Given the description of an element on the screen output the (x, y) to click on. 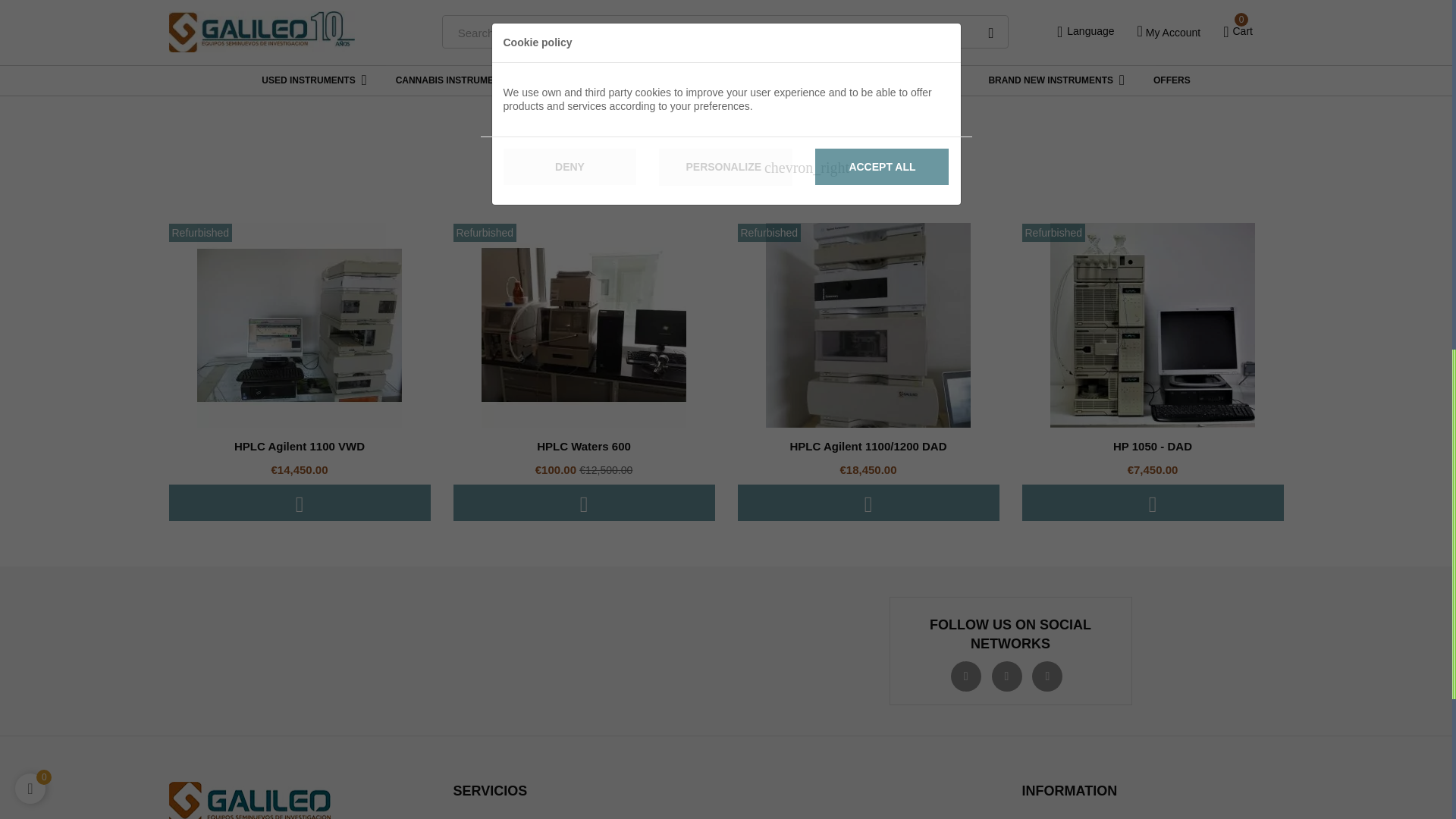
Logo (249, 800)
